Given the description of an element on the screen output the (x, y) to click on. 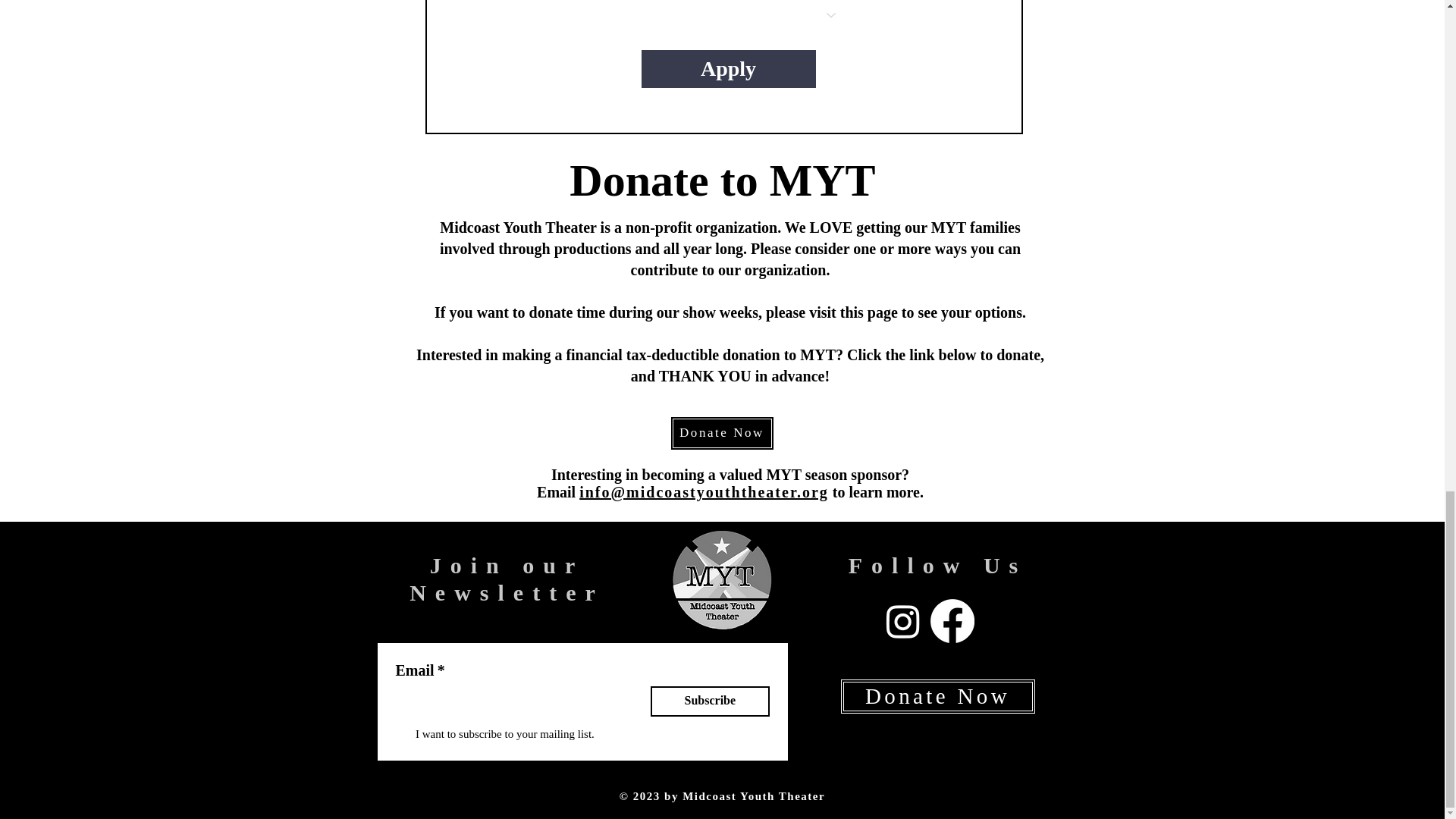
Donate Now (721, 433)
Subscribe (709, 701)
Donate Now (936, 696)
Apply (728, 68)
